Given the description of an element on the screen output the (x, y) to click on. 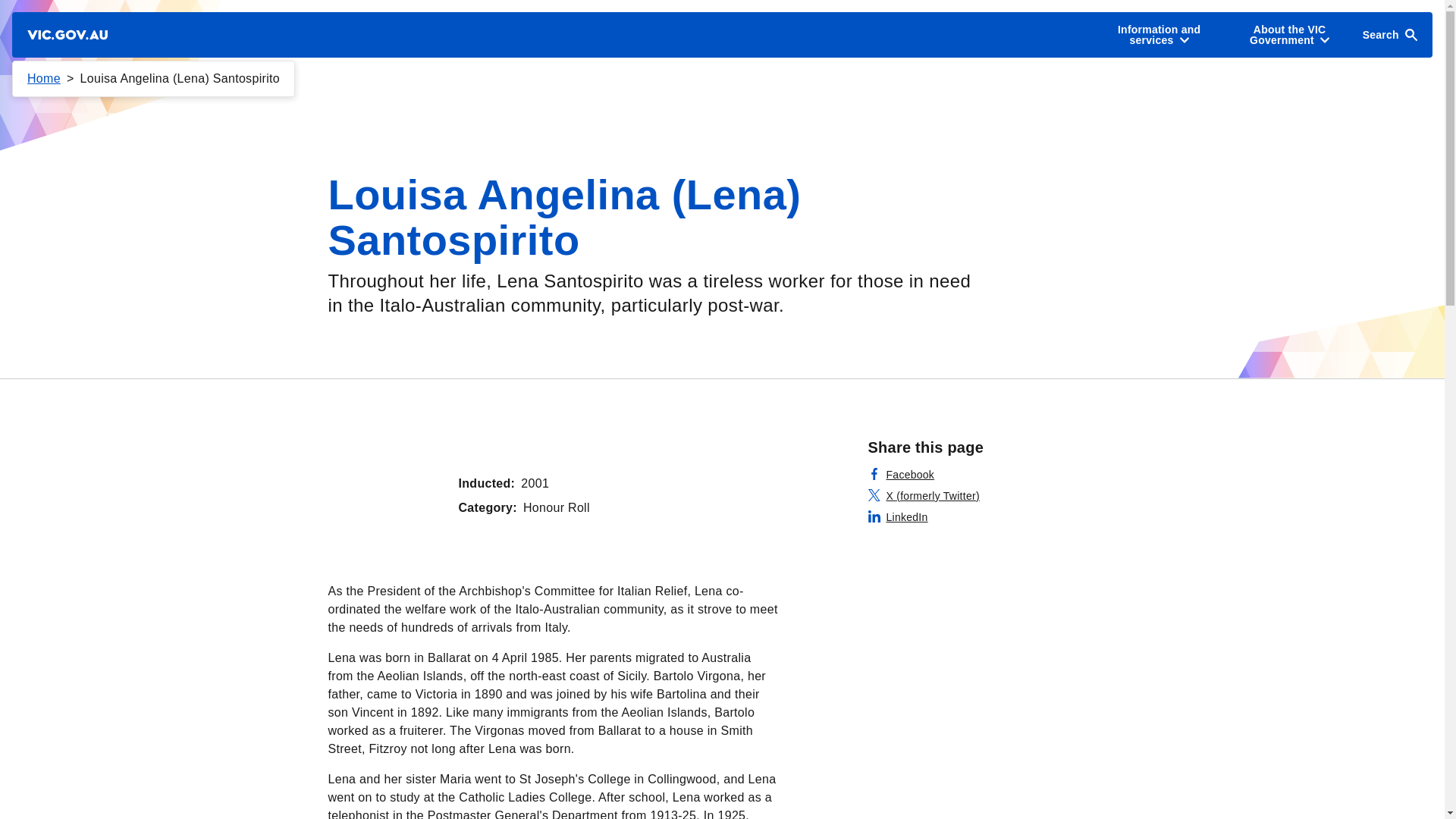
LinkedIn (897, 516)
Home (44, 78)
"" (383, 495)
Facebook (900, 474)
